Given the description of an element on the screen output the (x, y) to click on. 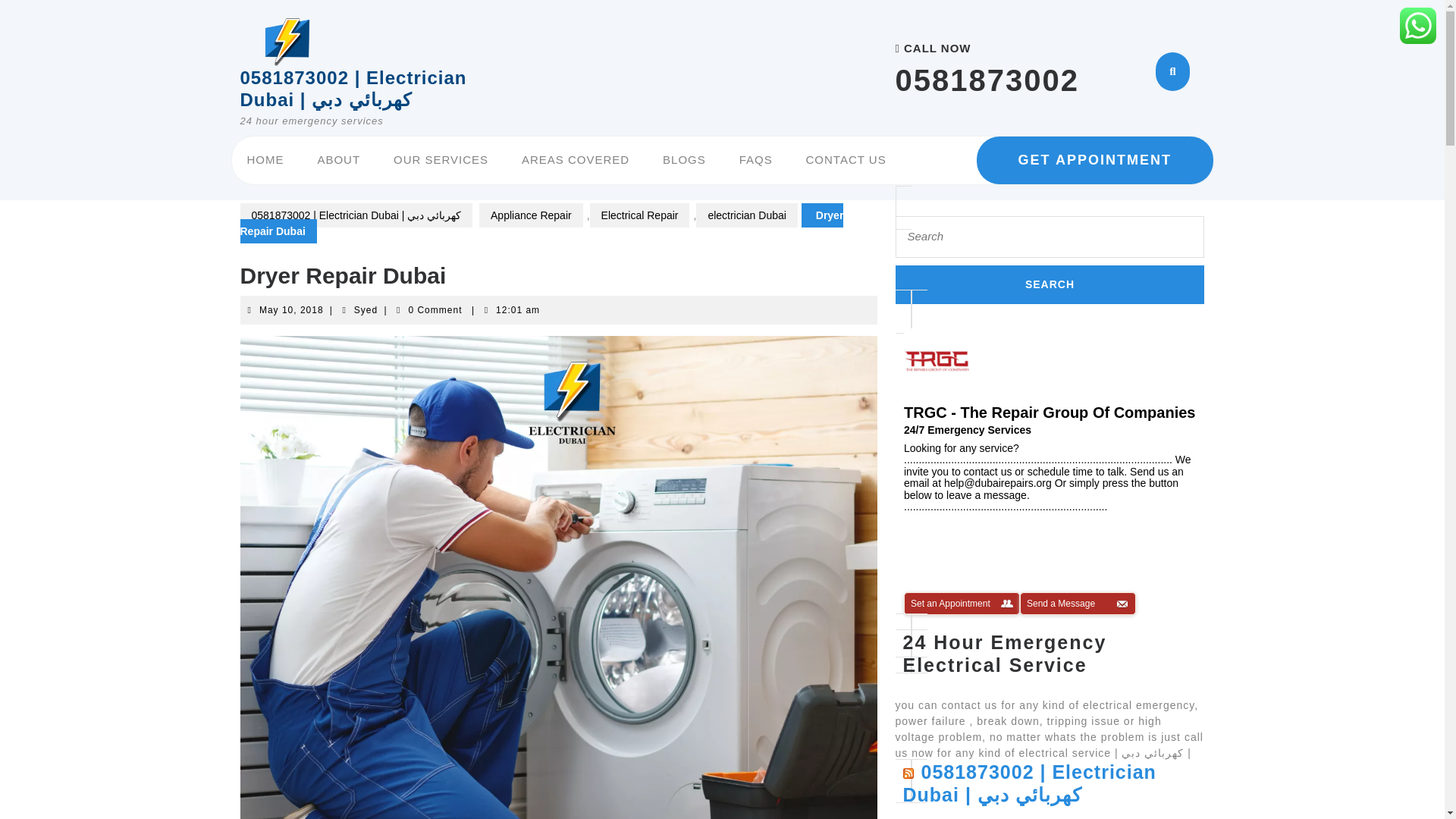
OUR SERVICES (440, 160)
HOME (265, 160)
0581873002 (986, 80)
Search (1049, 284)
ABOUT (338, 160)
Search (1049, 284)
